Given the description of an element on the screen output the (x, y) to click on. 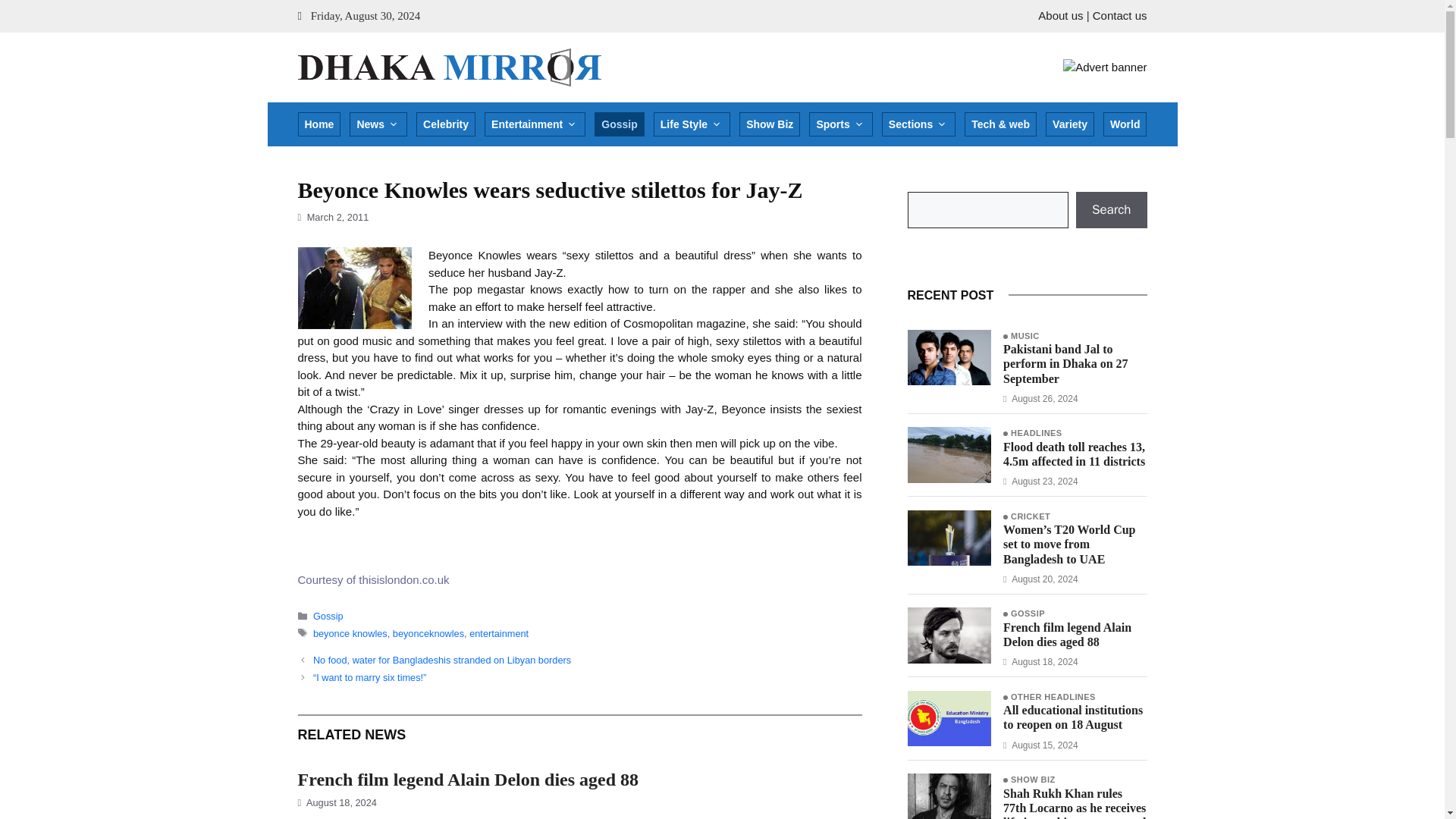
Sections (918, 124)
News (378, 124)
Show Biz (769, 124)
Entertainment (534, 124)
Gossip (618, 124)
Home (318, 124)
Sports (840, 124)
Beyonce Knowles wears seductive stilettos for Jay-Z1 (353, 288)
About us (1060, 15)
Celebrity (446, 124)
